Given the description of an element on the screen output the (x, y) to click on. 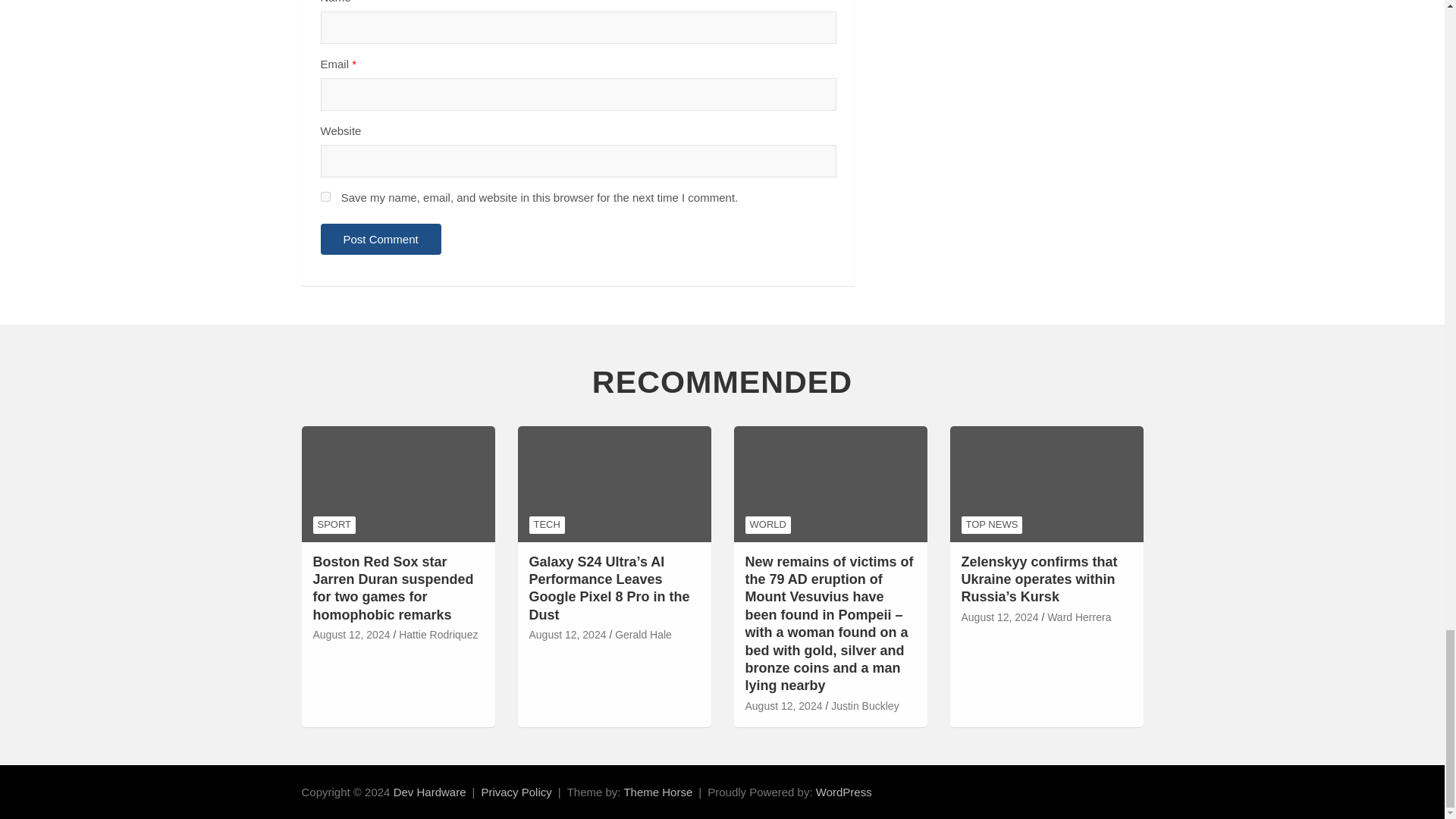
Post Comment (380, 238)
SPORT (334, 524)
Dev Hardware (429, 791)
Post Comment (380, 238)
WordPress (843, 791)
Theme Horse (658, 791)
yes (325, 196)
